Given the description of an element on the screen output the (x, y) to click on. 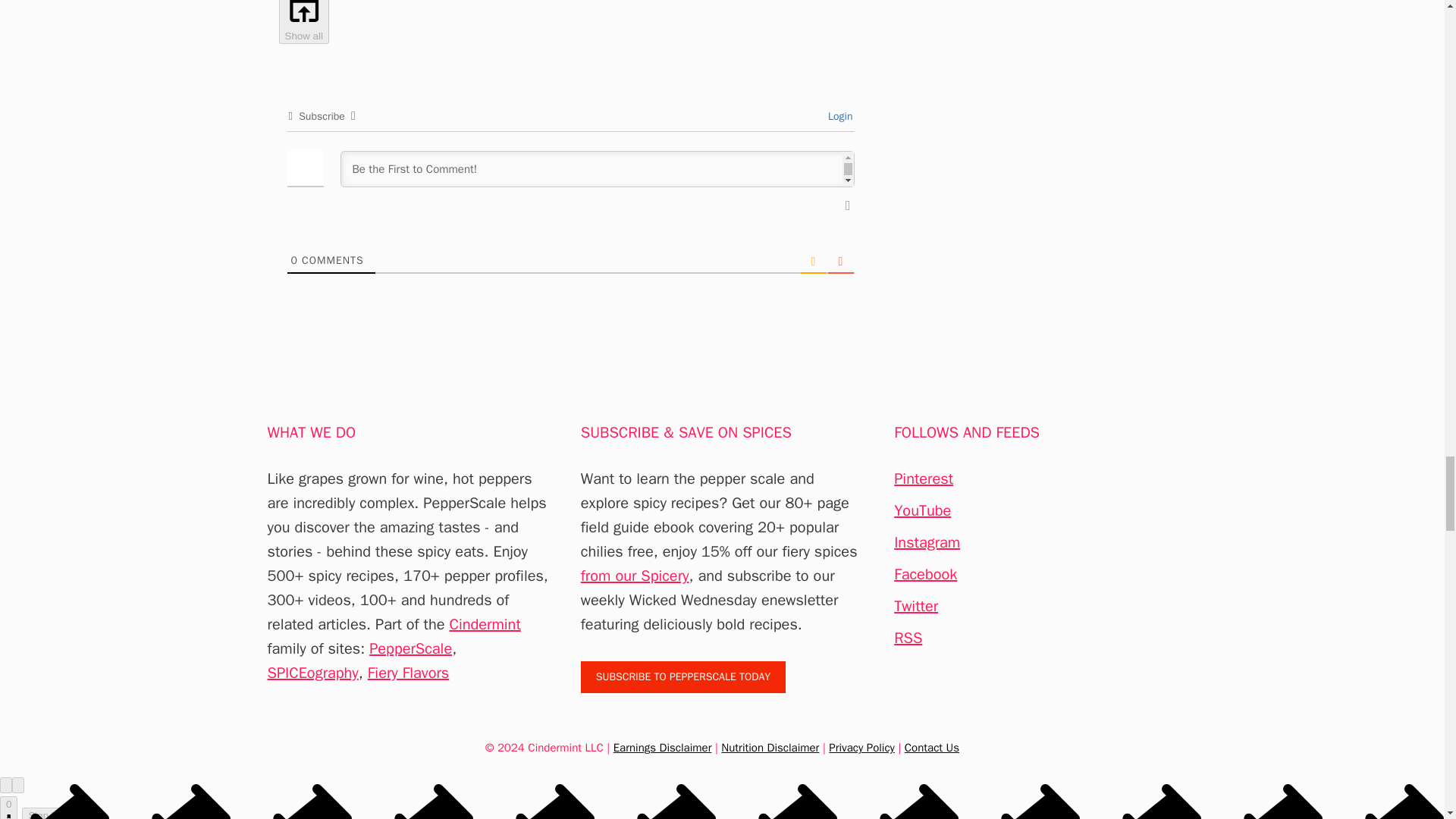
0 (294, 259)
Login (838, 115)
